Given the description of an element on the screen output the (x, y) to click on. 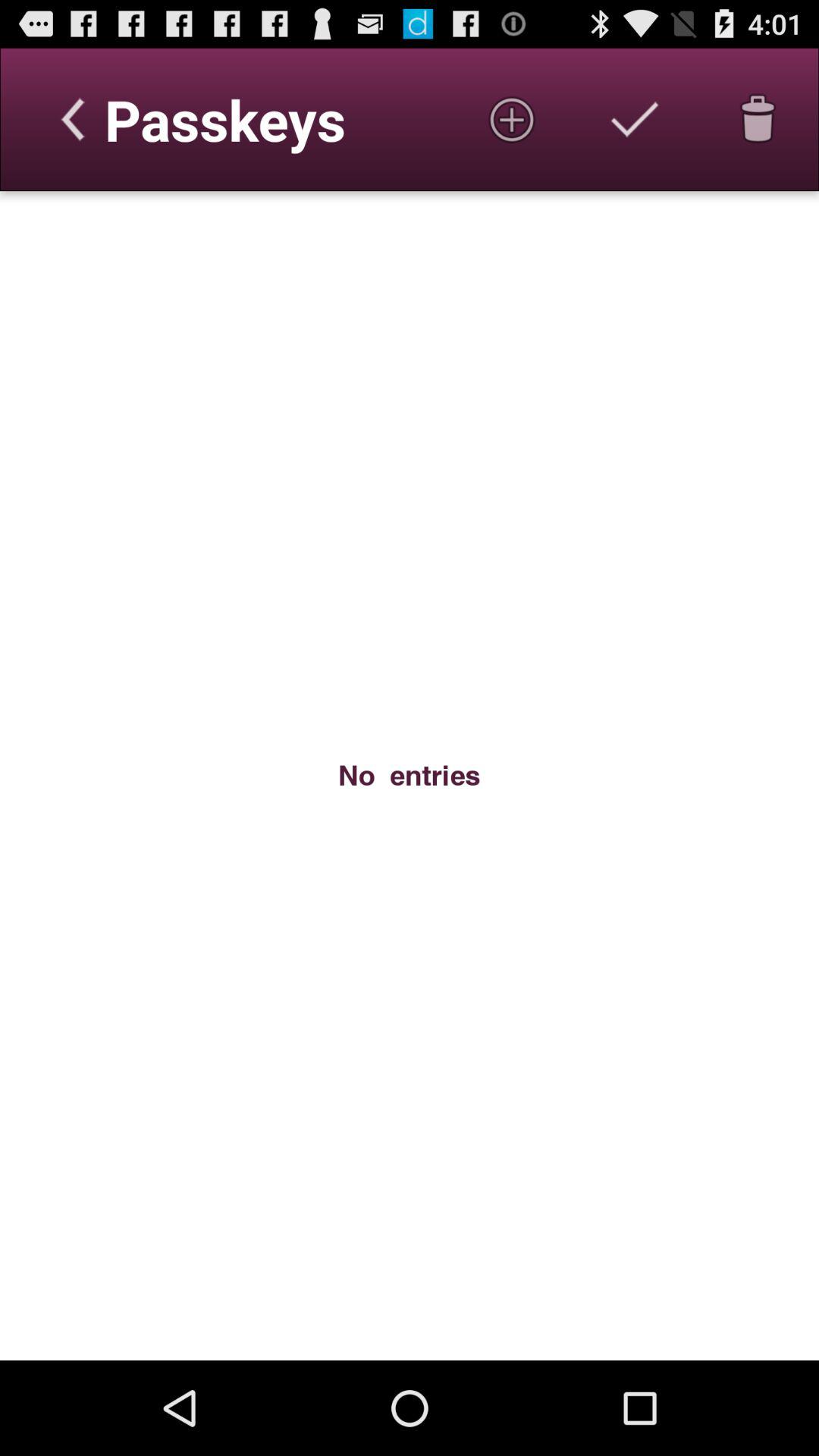
press to discard entries (757, 119)
